Given the description of an element on the screen output the (x, y) to click on. 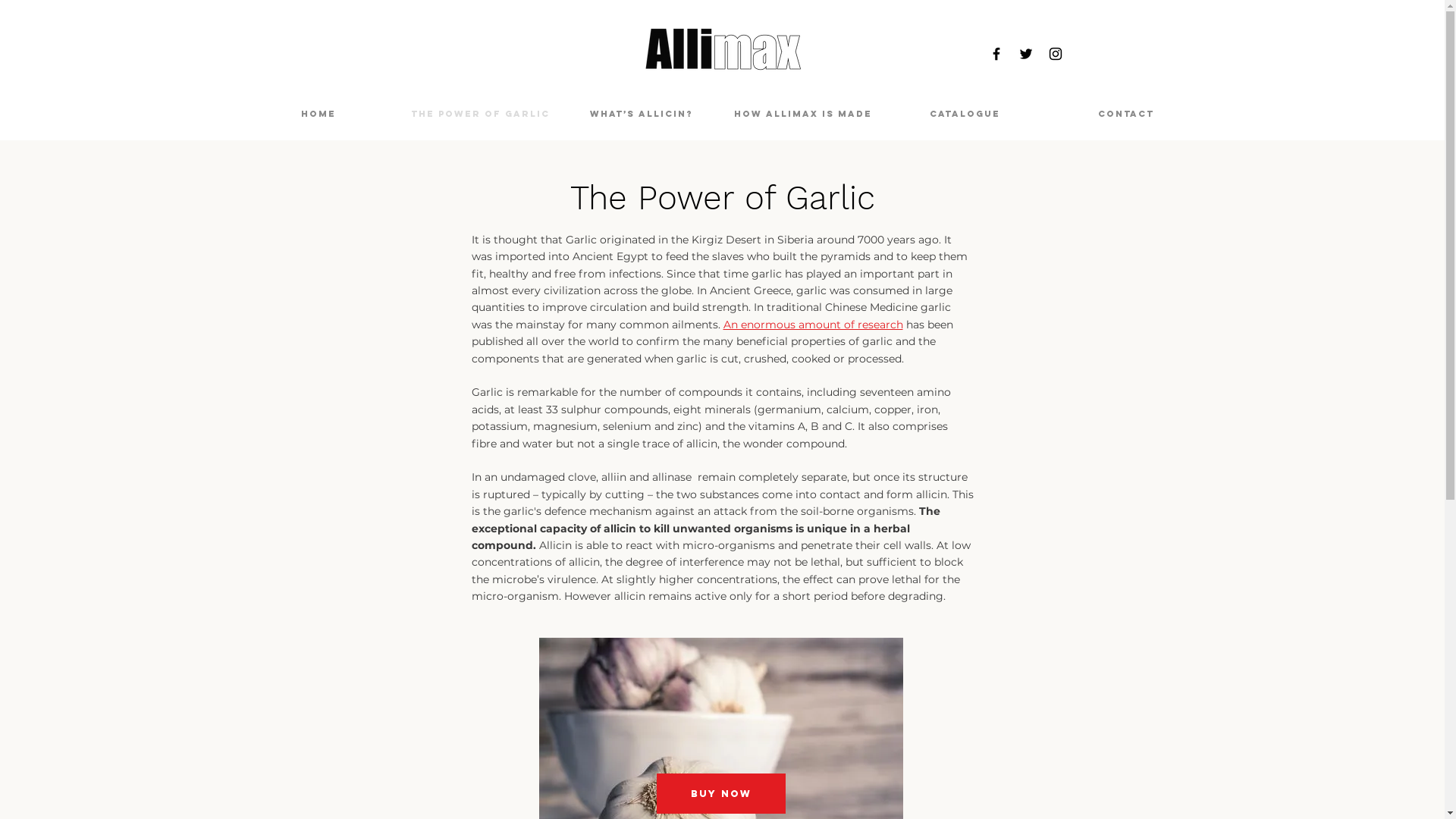
HOME Element type: text (318, 113)
CATALOGUE Element type: text (964, 113)
BUY NOW Element type: text (720, 793)
An enormous amount of research Element type: text (813, 324)
HOW ALLIMAX IS MADE Element type: text (802, 113)
THE POWER OF GARLIC Element type: text (479, 113)
CONTACT Element type: text (1125, 113)
